Given the description of an element on the screen output the (x, y) to click on. 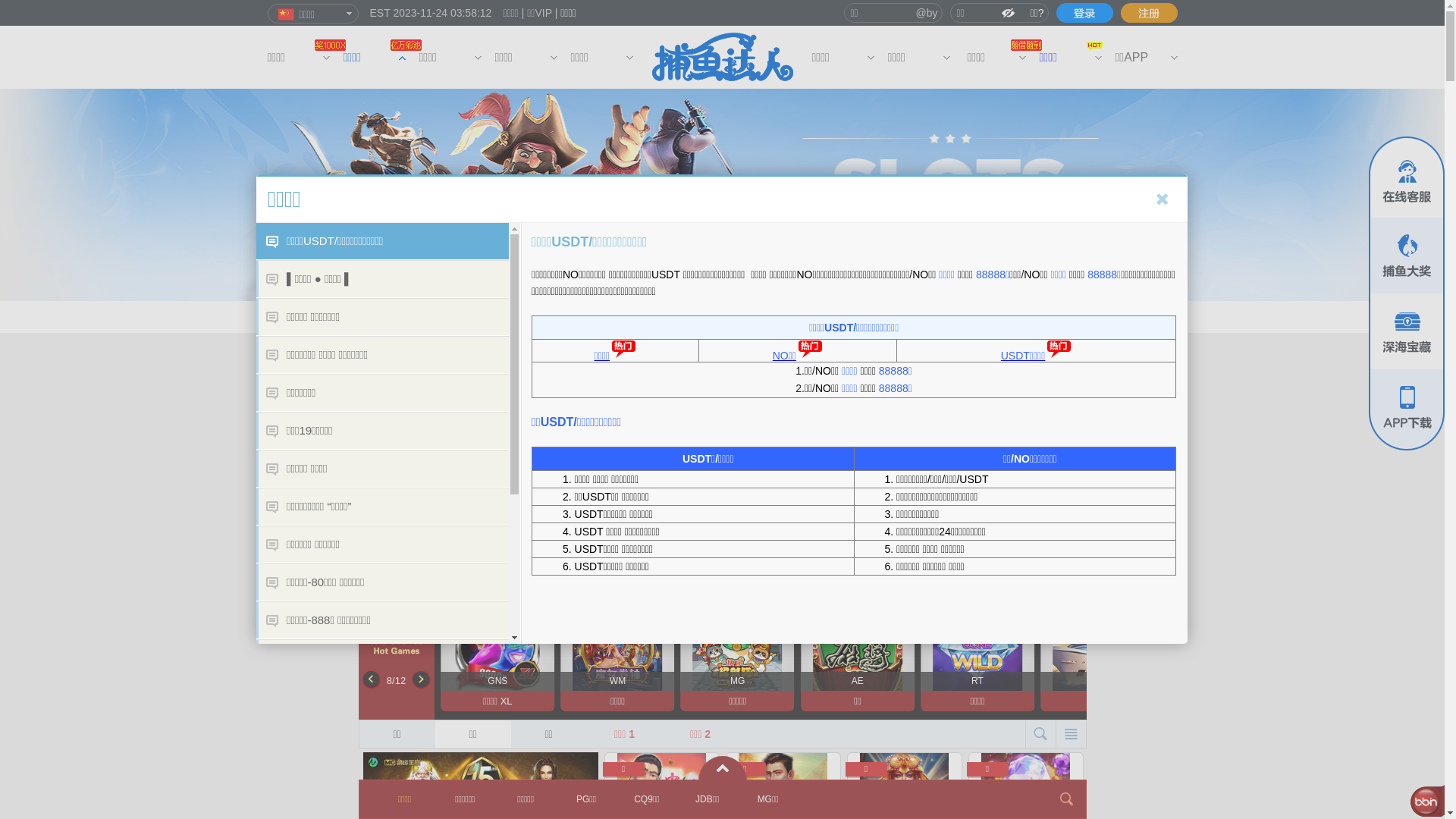
  Element type: text (1083, 12)
